Given the description of an element on the screen output the (x, y) to click on. 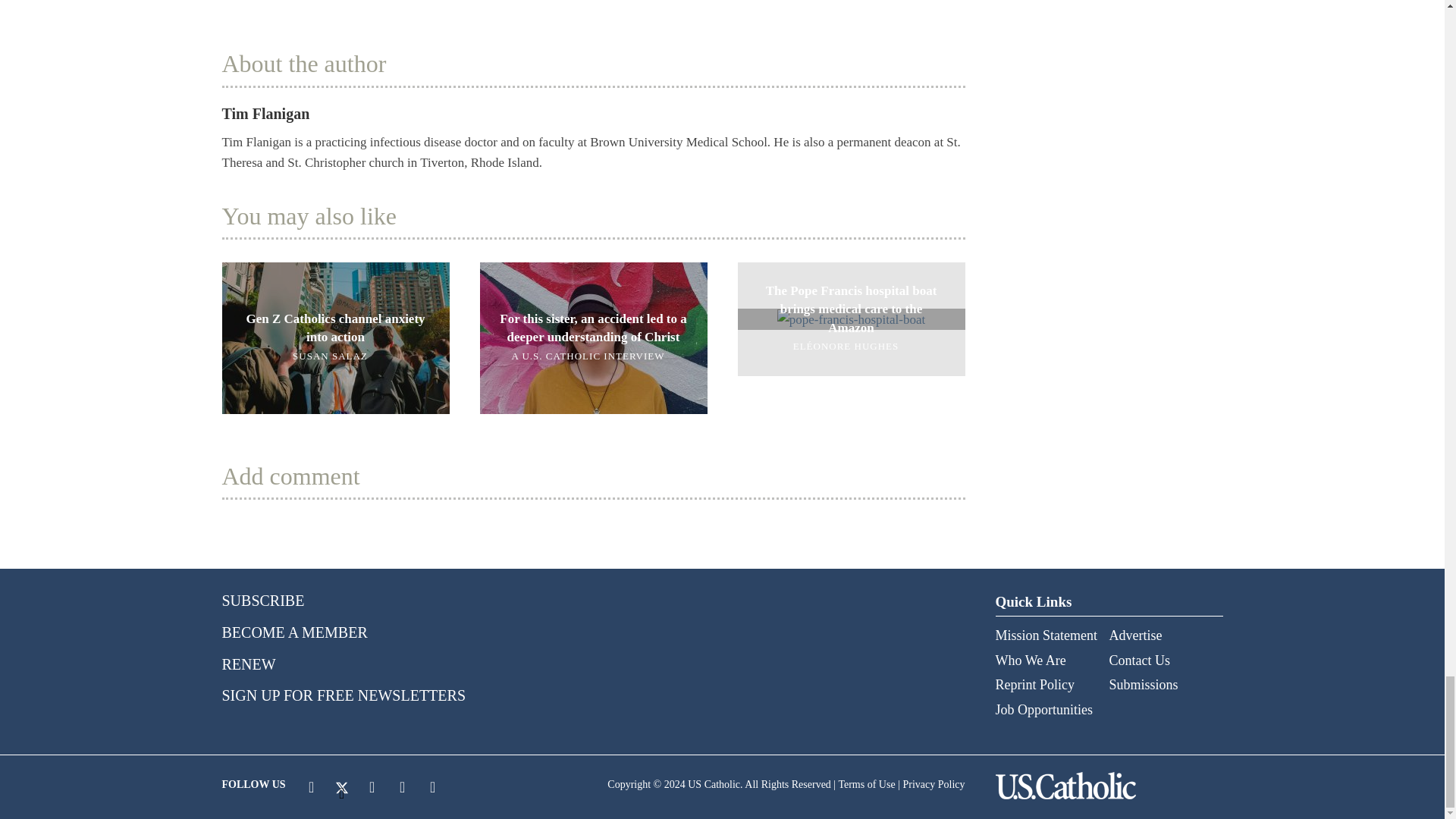
Gen Z Catholics channel anxiety into action (334, 336)
